Given the description of an element on the screen output the (x, y) to click on. 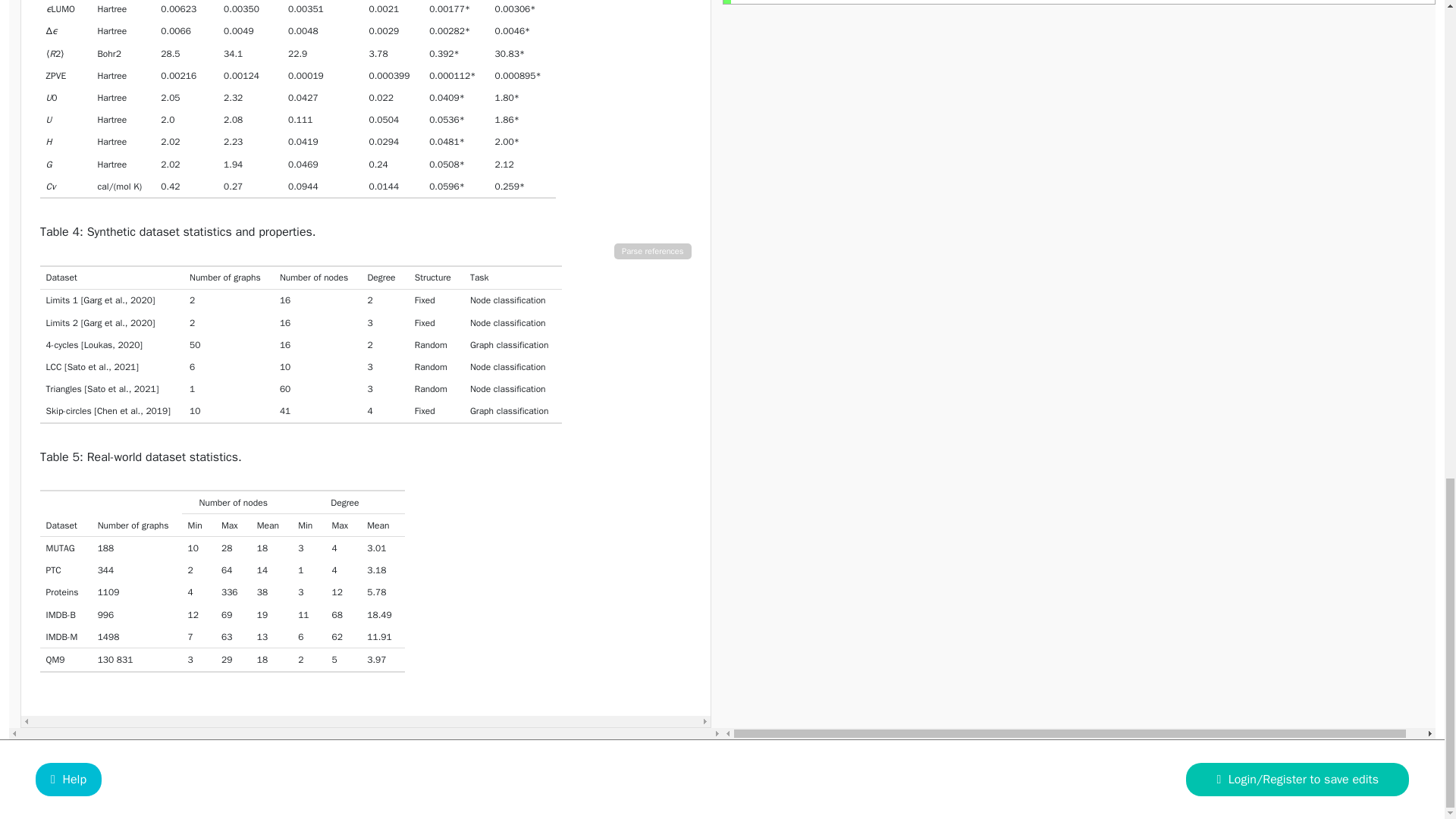
bib-bib2 (141, 300)
bib-bib2 (141, 322)
